Given the description of an element on the screen output the (x, y) to click on. 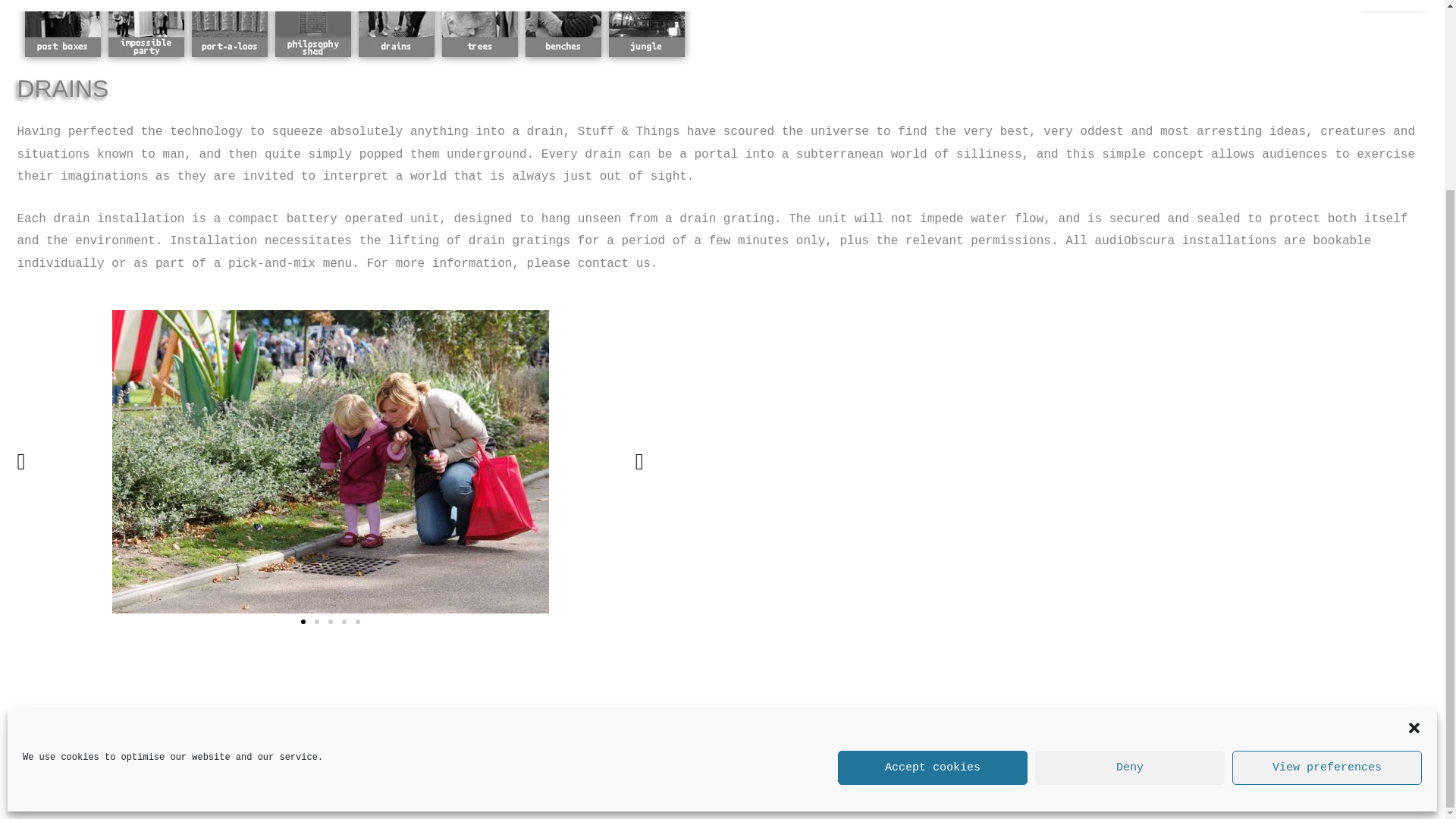
View preferences (1326, 530)
Deny (1129, 530)
Accept cookies (932, 530)
Privacy Policy (65, 740)
Cookies Policy (189, 740)
PRESS (1394, 3)
